Given the description of an element on the screen output the (x, y) to click on. 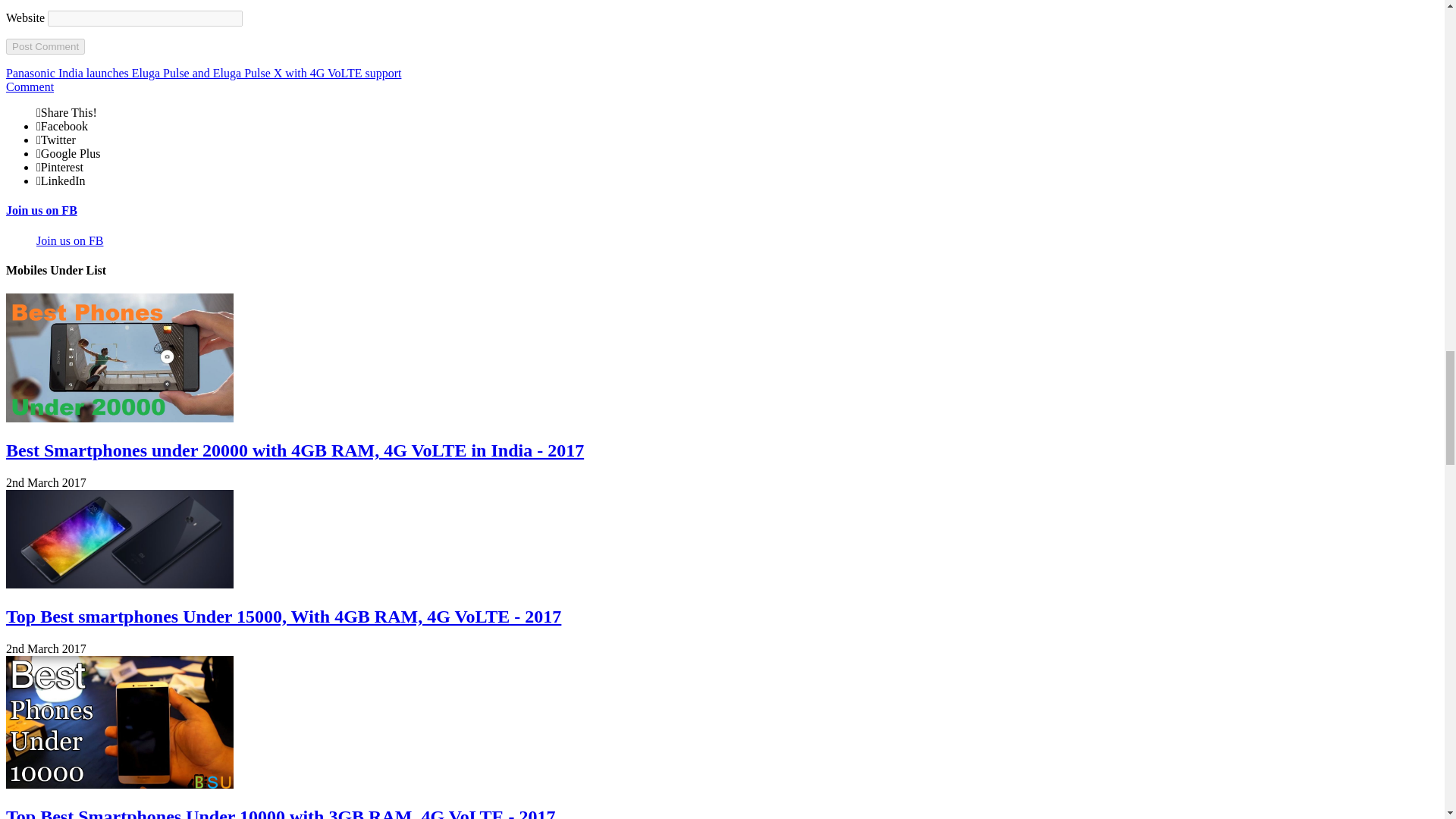
Post Comment (44, 46)
